Given the description of an element on the screen output the (x, y) to click on. 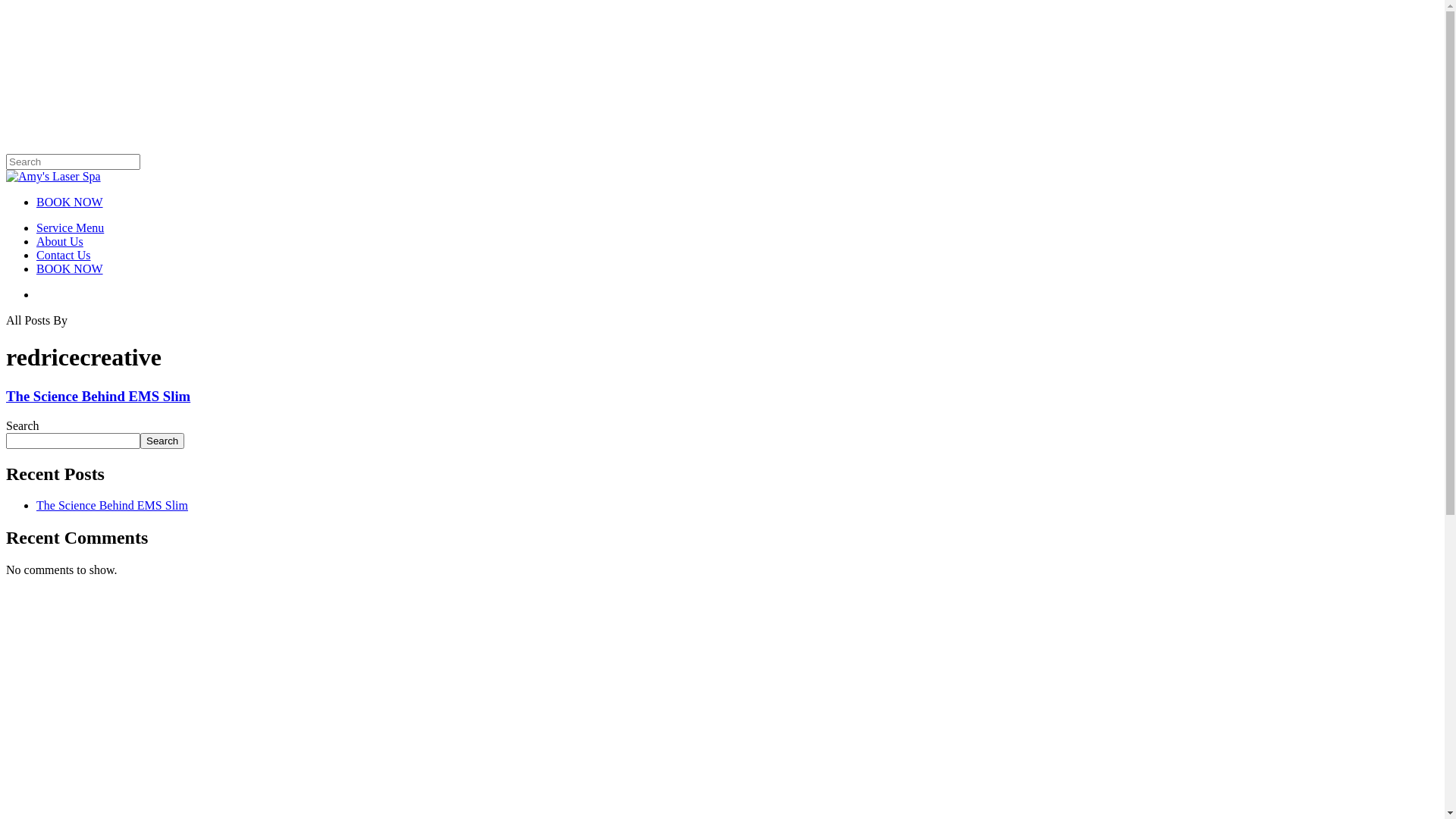
The Science Behind EMS Slim Element type: text (98, 396)
Service Menu Element type: text (69, 227)
Search Element type: text (162, 440)
About Us Element type: text (59, 241)
BOOK NOW Element type: text (69, 268)
Contact Us Element type: text (63, 254)
BOOK NOW Element type: text (69, 201)
Skip to main content Element type: text (5, 5)
The Science Behind EMS Slim Element type: text (112, 504)
